Given the description of an element on the screen output the (x, y) to click on. 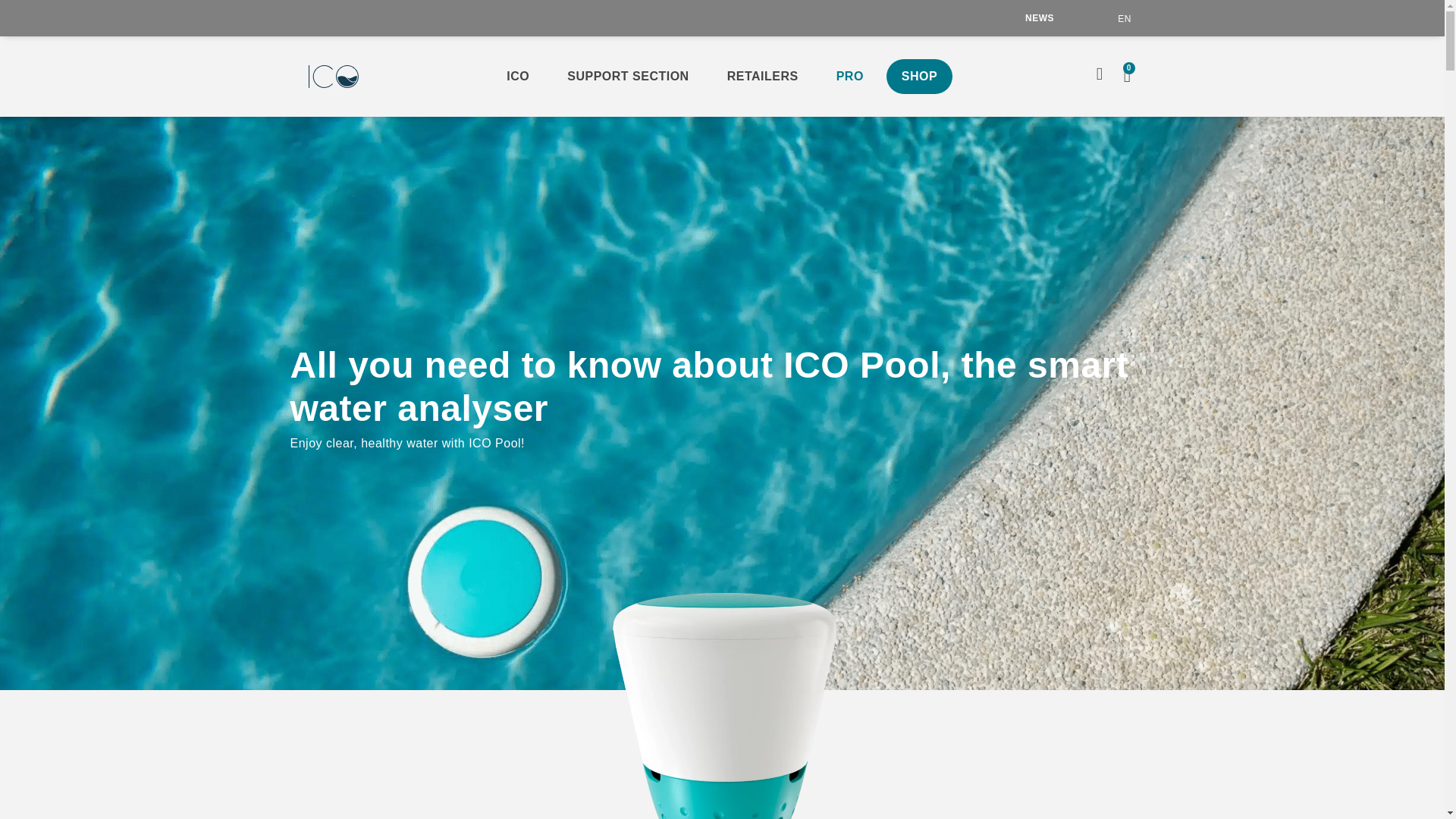
EN (1124, 18)
SUPPORT SECTION (627, 76)
PRO (850, 76)
NEWS (1039, 18)
SHOP (919, 76)
ICO (518, 76)
RETAILERS (762, 76)
